Given the description of an element on the screen output the (x, y) to click on. 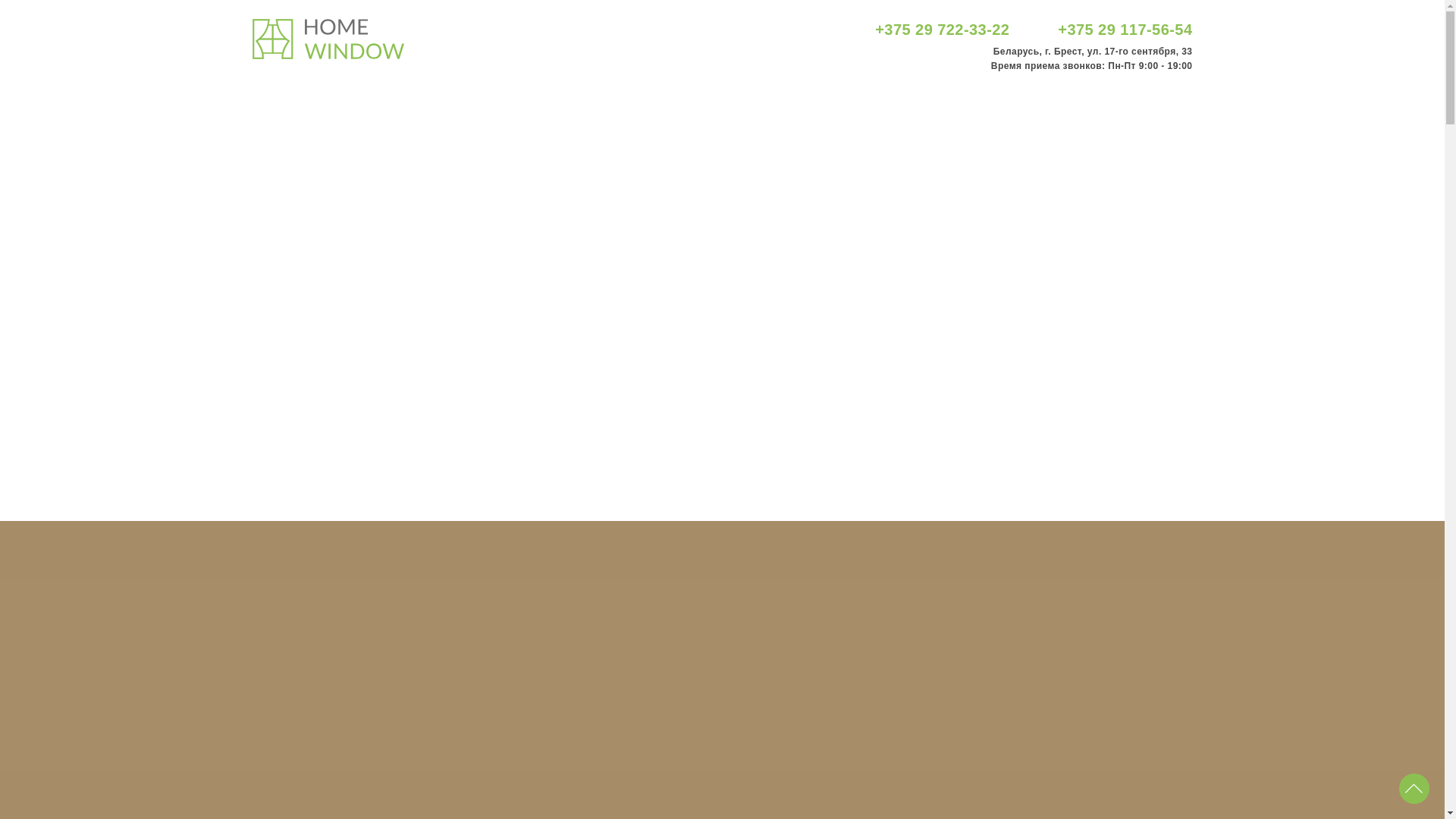
+375 29 722-33-22 Element type: text (942, 29)
+375 29 117-56-54 Element type: text (1124, 29)
